Given the description of an element on the screen output the (x, y) to click on. 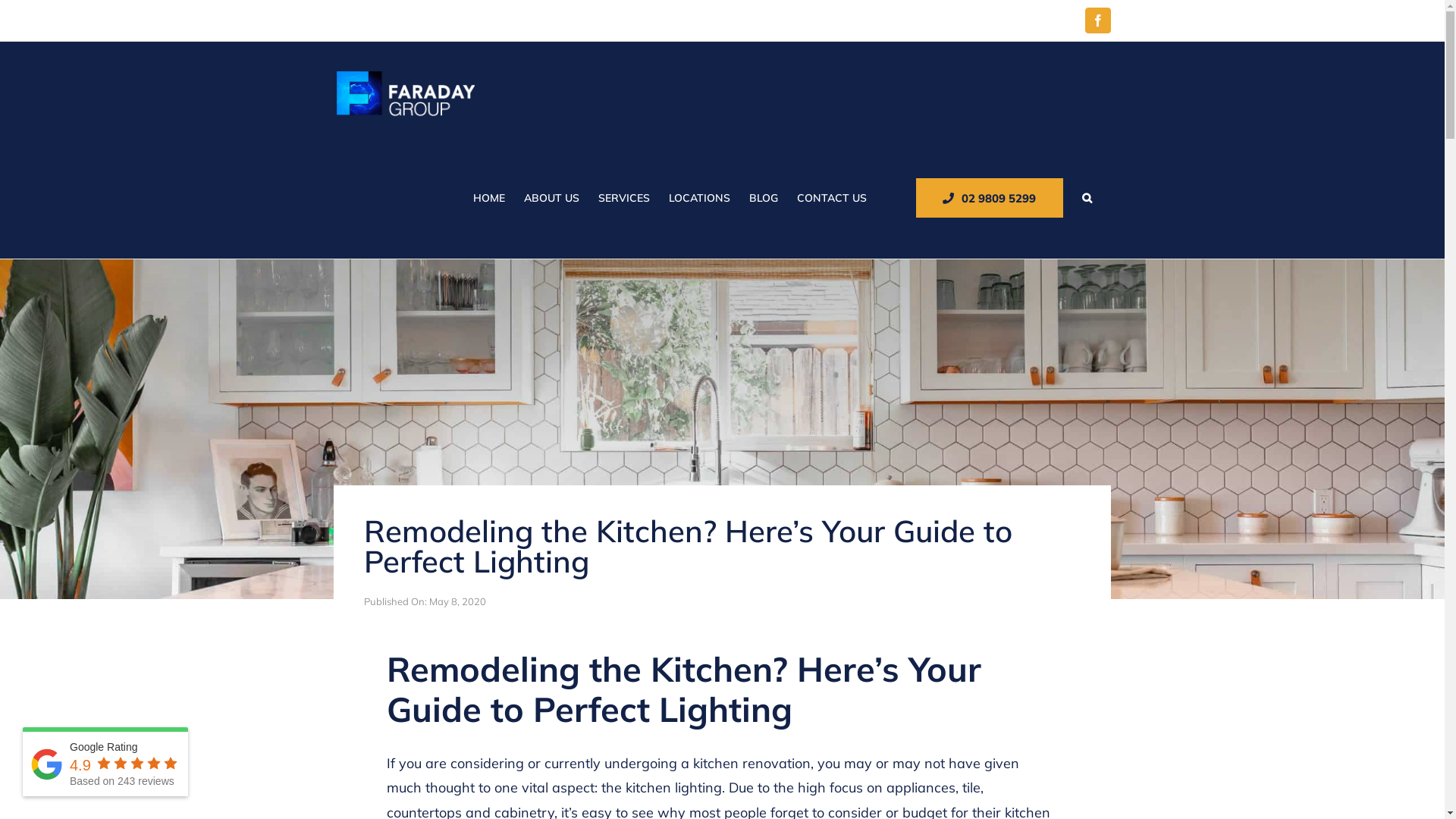
02 9809 5299 Element type: text (989, 197)
SERVICES Element type: text (623, 197)
BLOG Element type: text (763, 197)
Search Element type: hover (1086, 197)
HOME Element type: text (489, 197)
CONTACT US Element type: text (831, 197)
Facebook Element type: text (1097, 20)
LOCATIONS Element type: text (699, 197)
ABOUT US Element type: text (550, 197)
Google Rating
4.9
Based on 243 reviews Element type: text (105, 761)
